Given the description of an element on the screen output the (x, y) to click on. 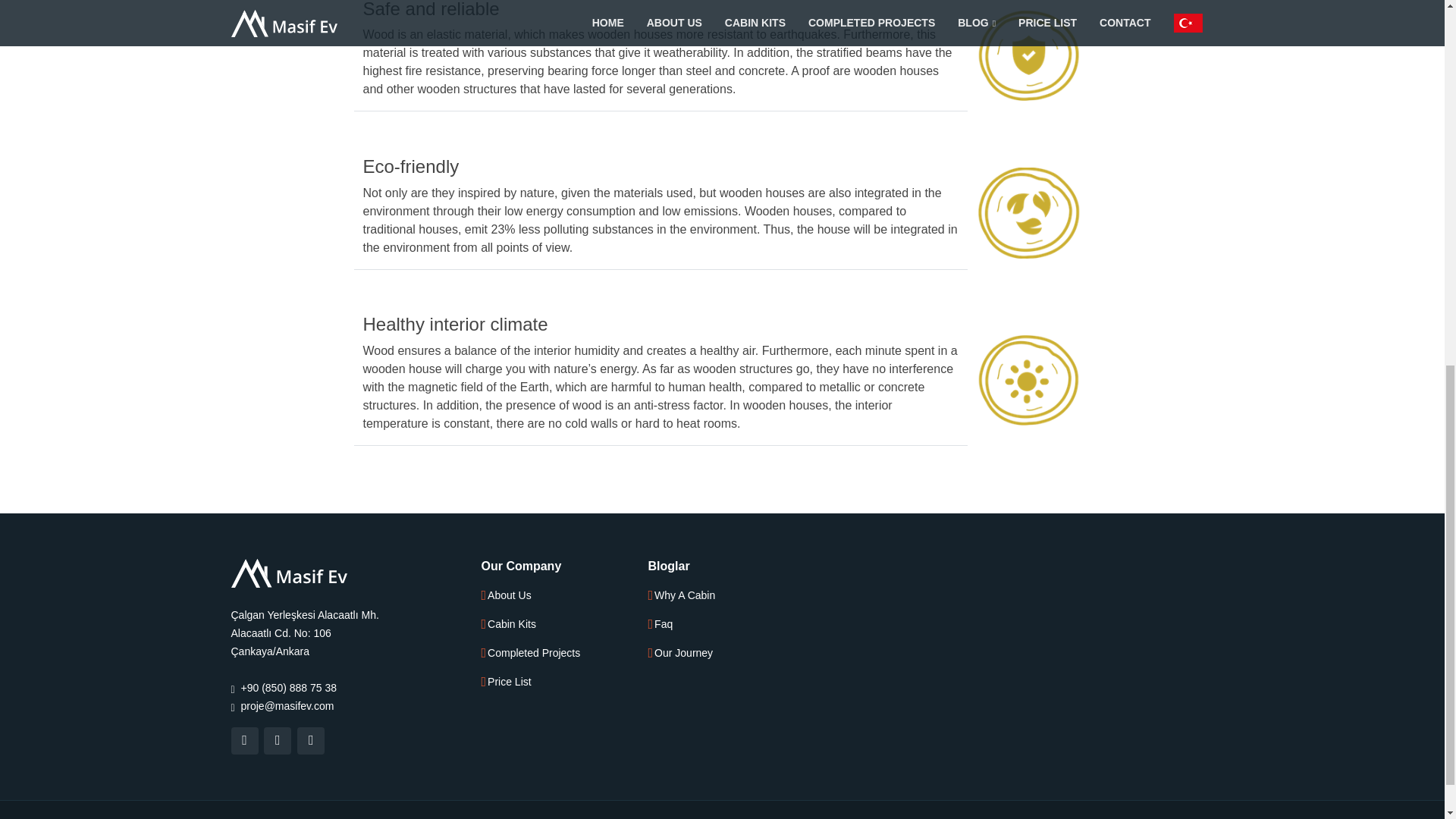
Price List (509, 681)
Cabin Kits (511, 624)
Completed Projects (533, 652)
Faq (662, 624)
Our Journey (683, 652)
Why A Cabin (683, 594)
About Us (509, 594)
